Given the description of an element on the screen output the (x, y) to click on. 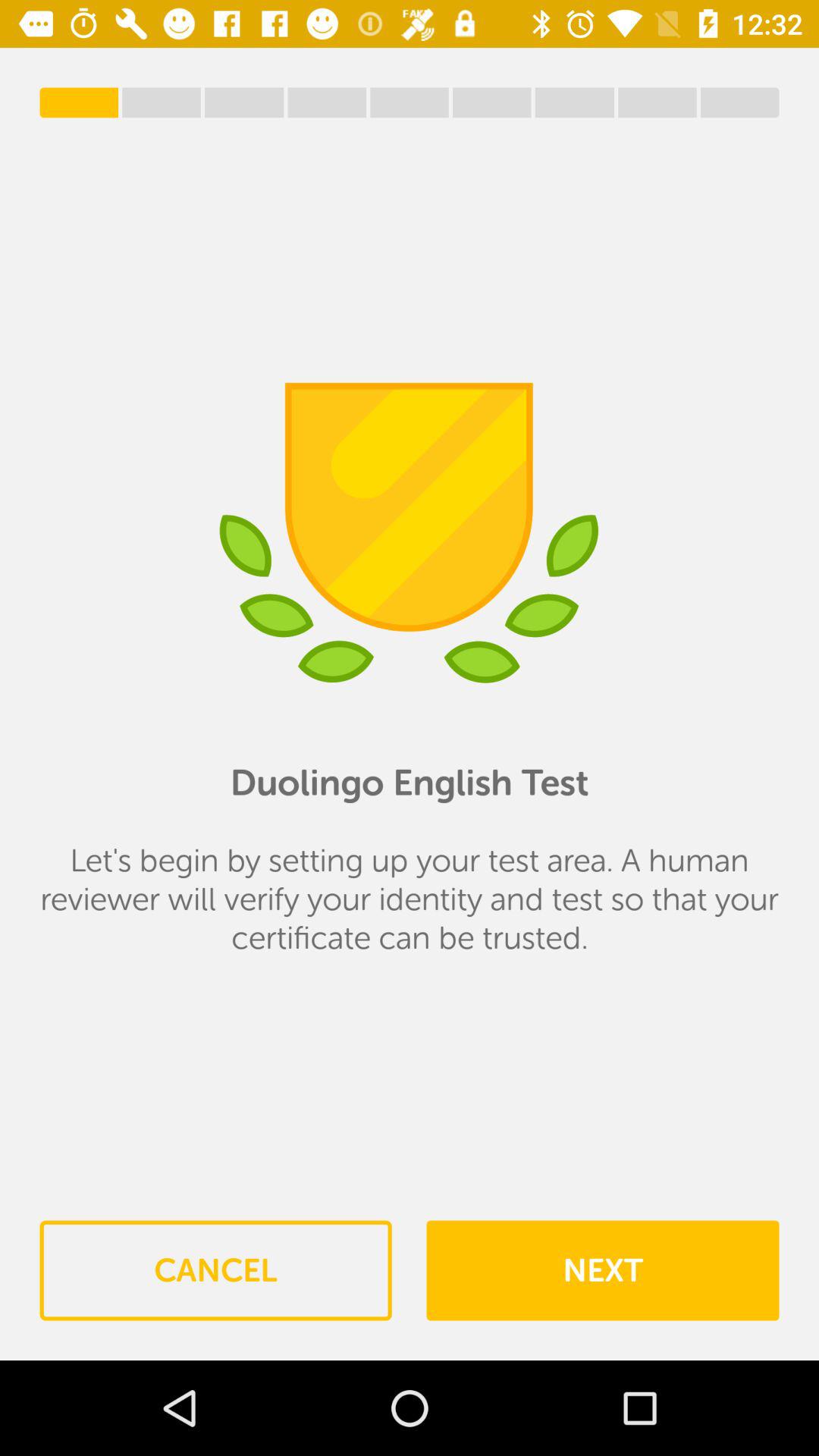
launch the cancel (215, 1270)
